Given the description of an element on the screen output the (x, y) to click on. 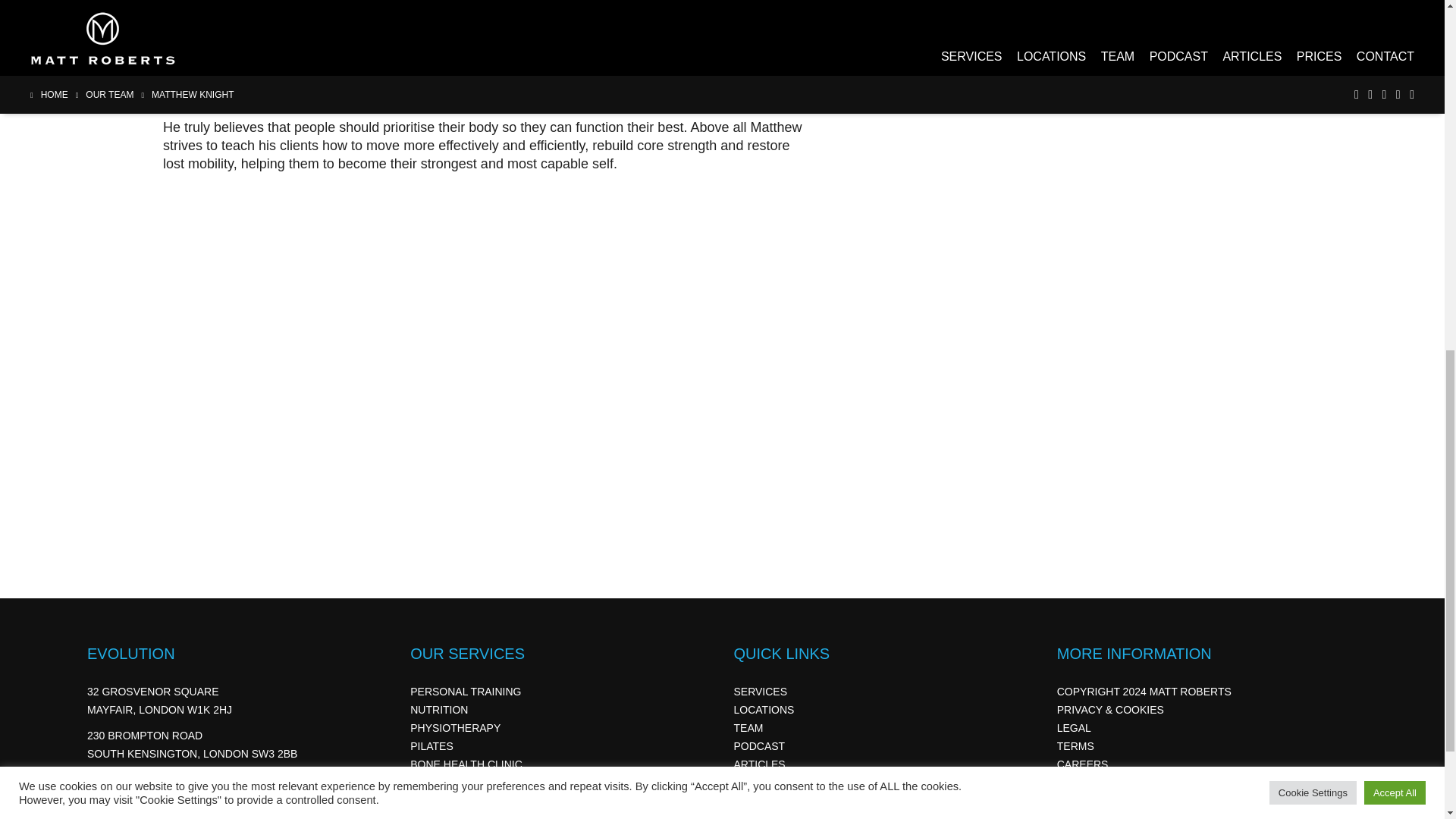
020 7491 9989 (135, 787)
